Given the description of an element on the screen output the (x, y) to click on. 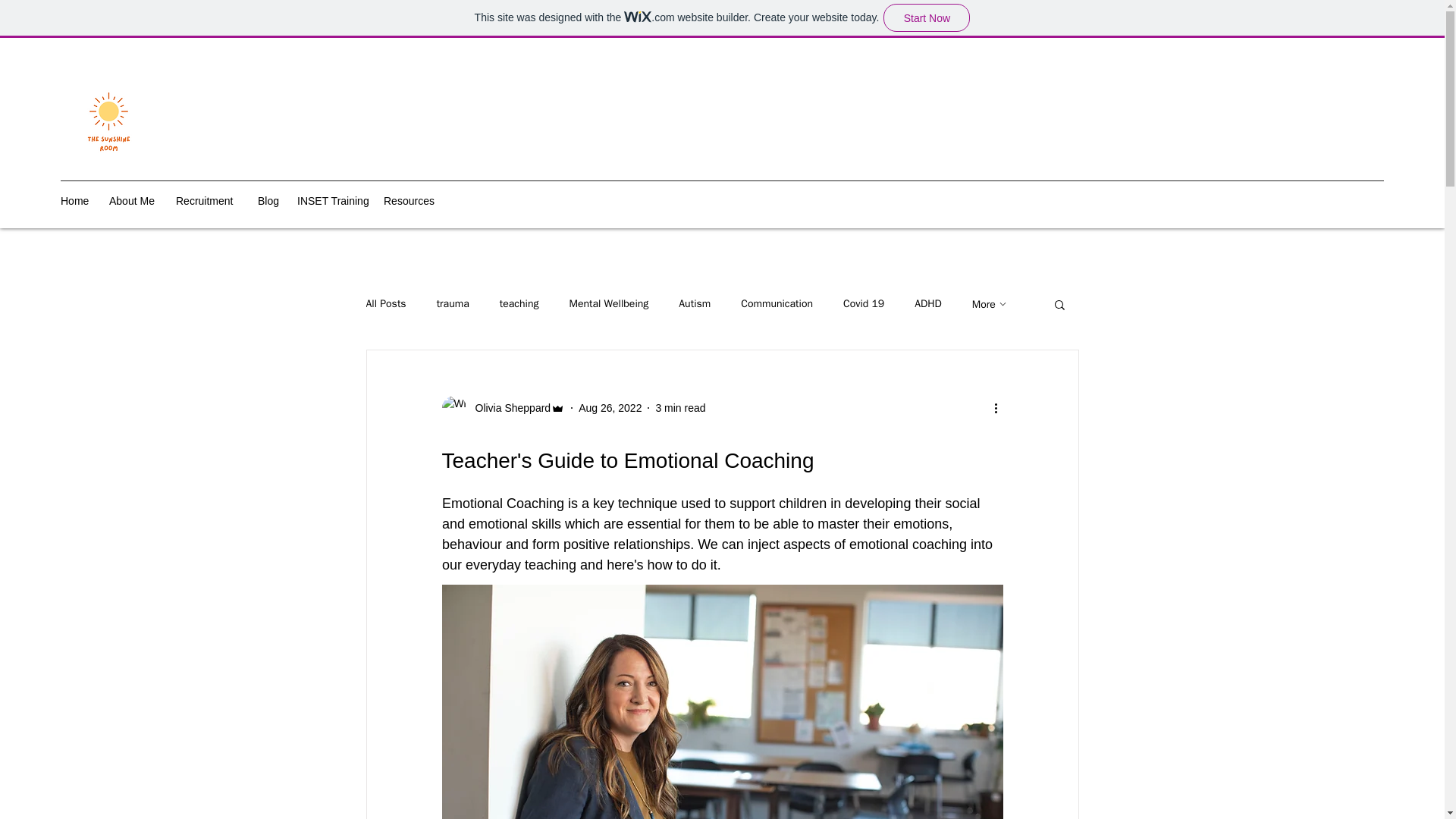
About Me (134, 200)
Autism (694, 304)
Mental Wellbeing (608, 304)
Covid 19 (863, 304)
Aug 26, 2022 (610, 408)
teaching (518, 304)
Blog (269, 200)
Olivia Sheppard (502, 407)
Recruitment (209, 200)
trauma (452, 304)
